Given the description of an element on the screen output the (x, y) to click on. 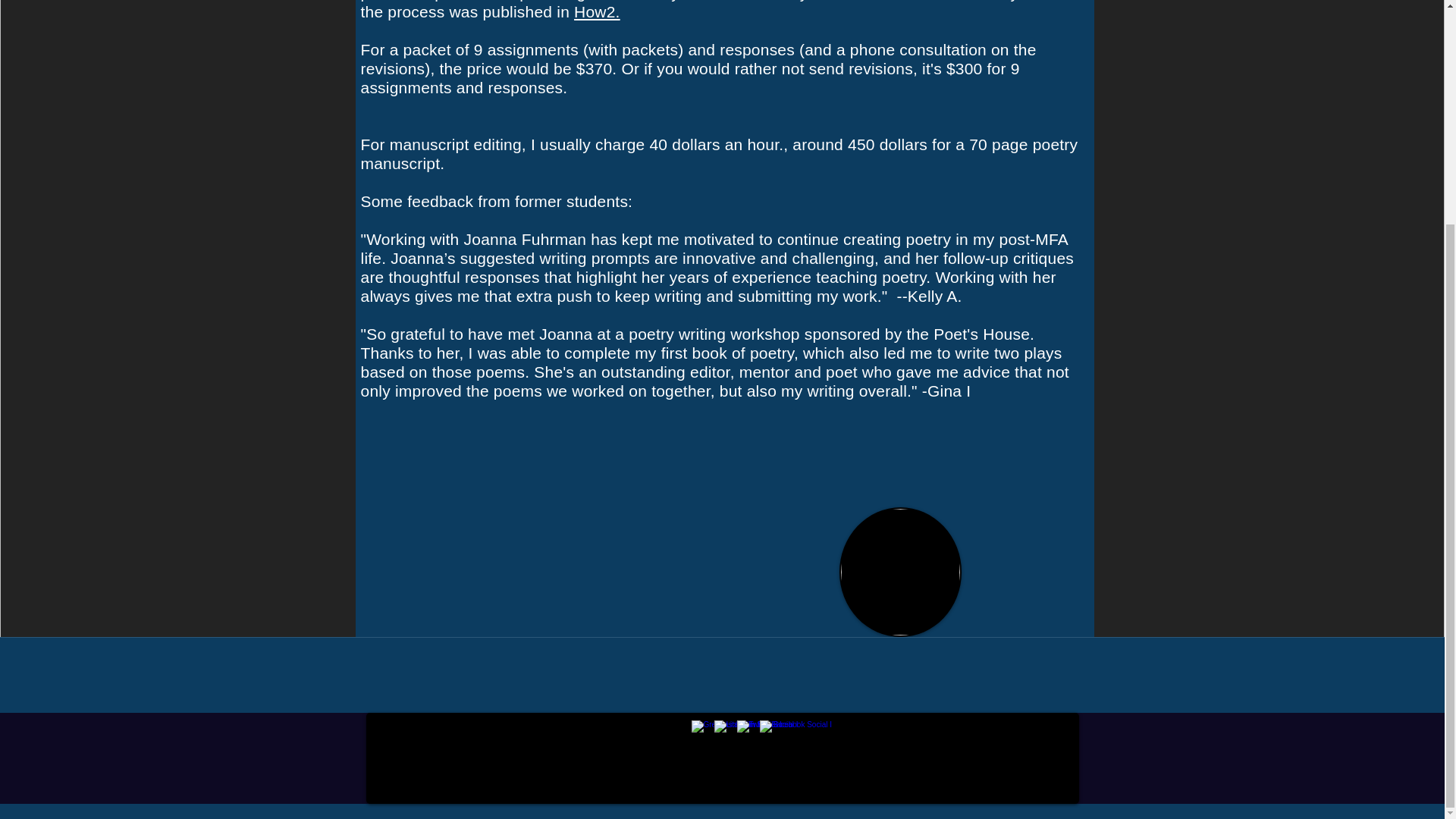
How2. (596, 11)
